Given the description of an element on the screen output the (x, y) to click on. 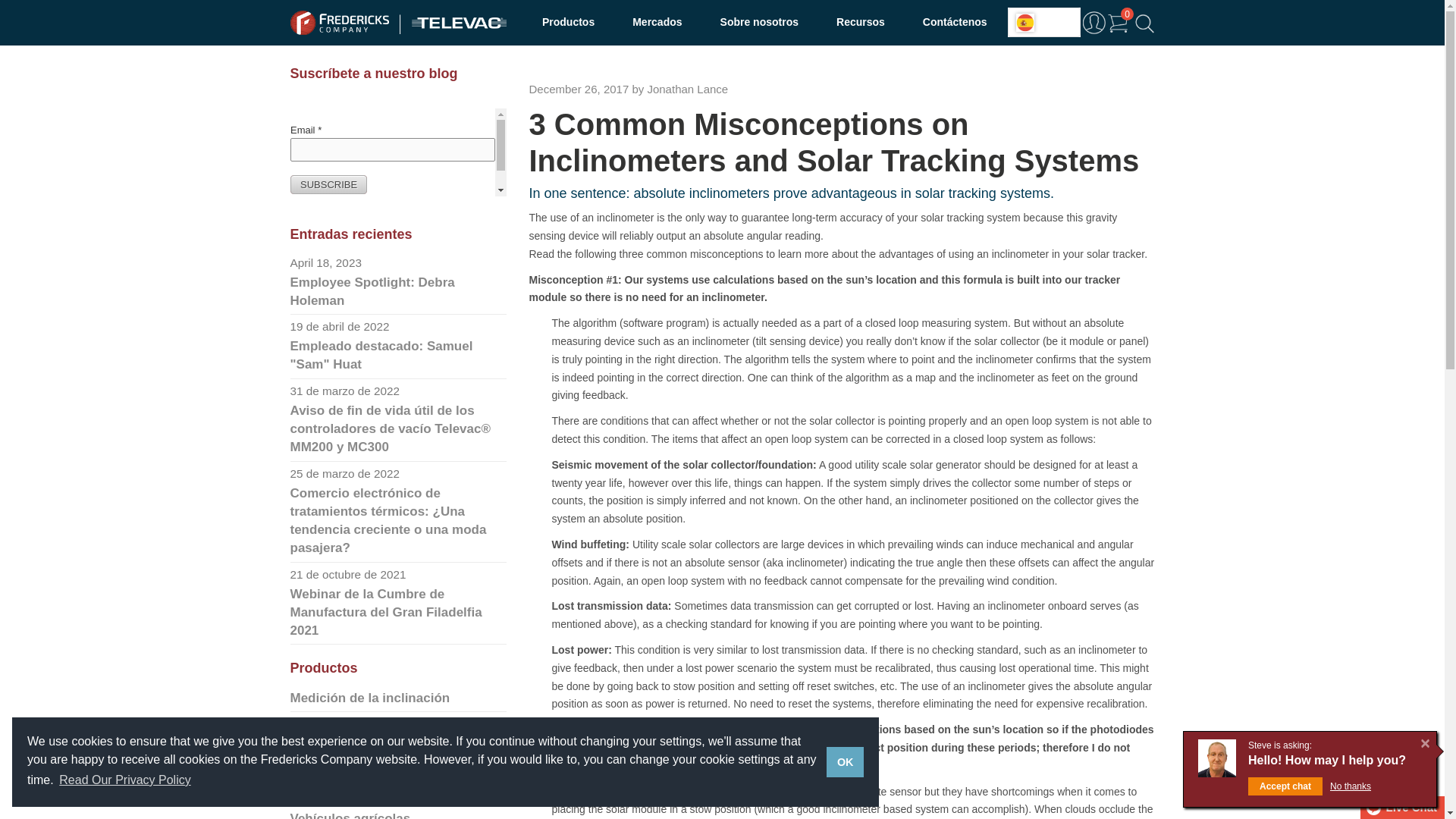
OK (845, 761)
Productos (567, 22)
Mercados (656, 22)
Read Our Privacy Policy (124, 780)
